Given the description of an element on the screen output the (x, y) to click on. 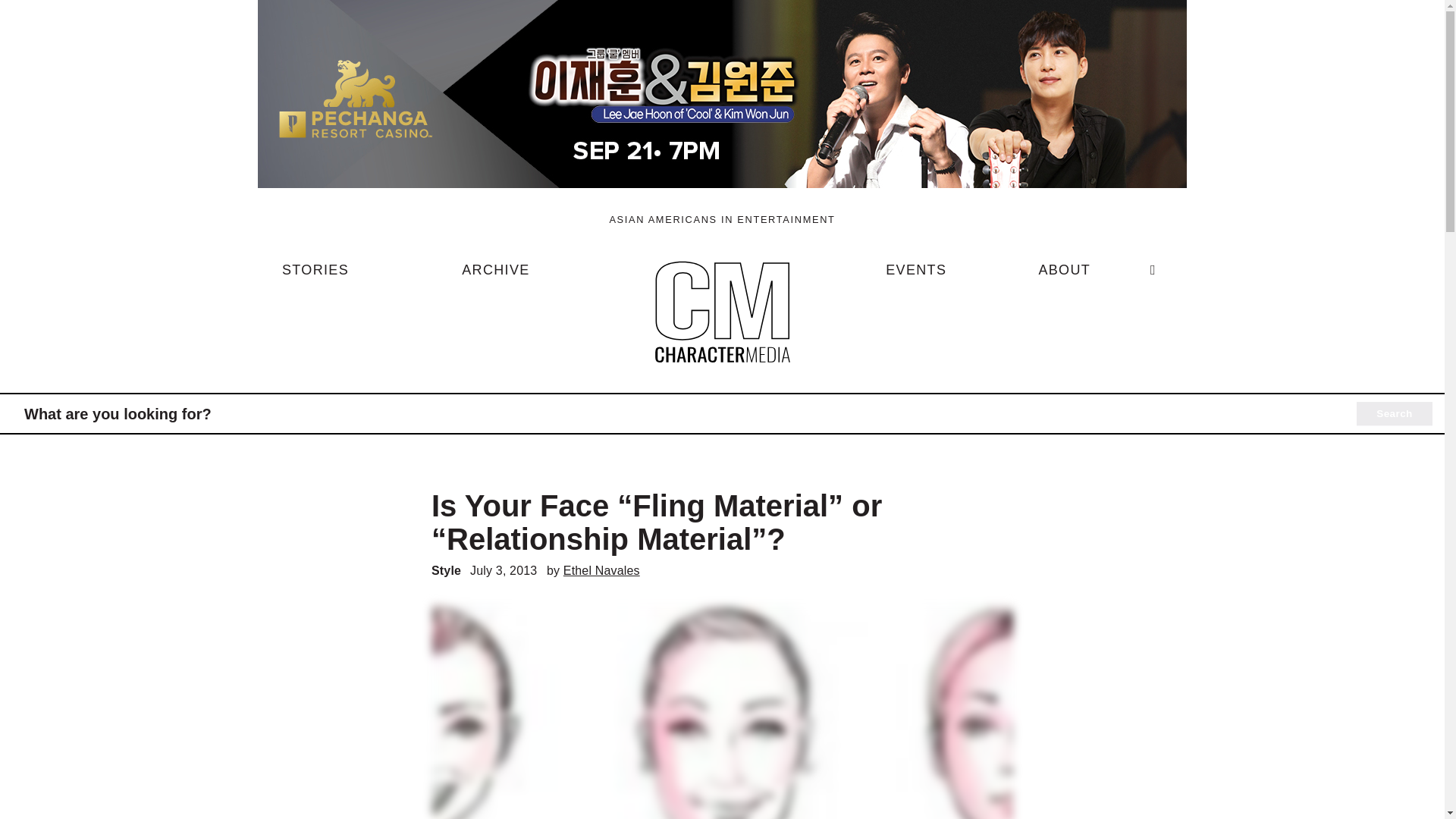
ARCHIVE (495, 276)
Style (445, 570)
Ethel Navales (601, 570)
Search (1394, 413)
EVENTS (915, 276)
ABOUT (1064, 276)
Search (1394, 413)
Search (1394, 413)
STORIES (315, 276)
